Given the description of an element on the screen output the (x, y) to click on. 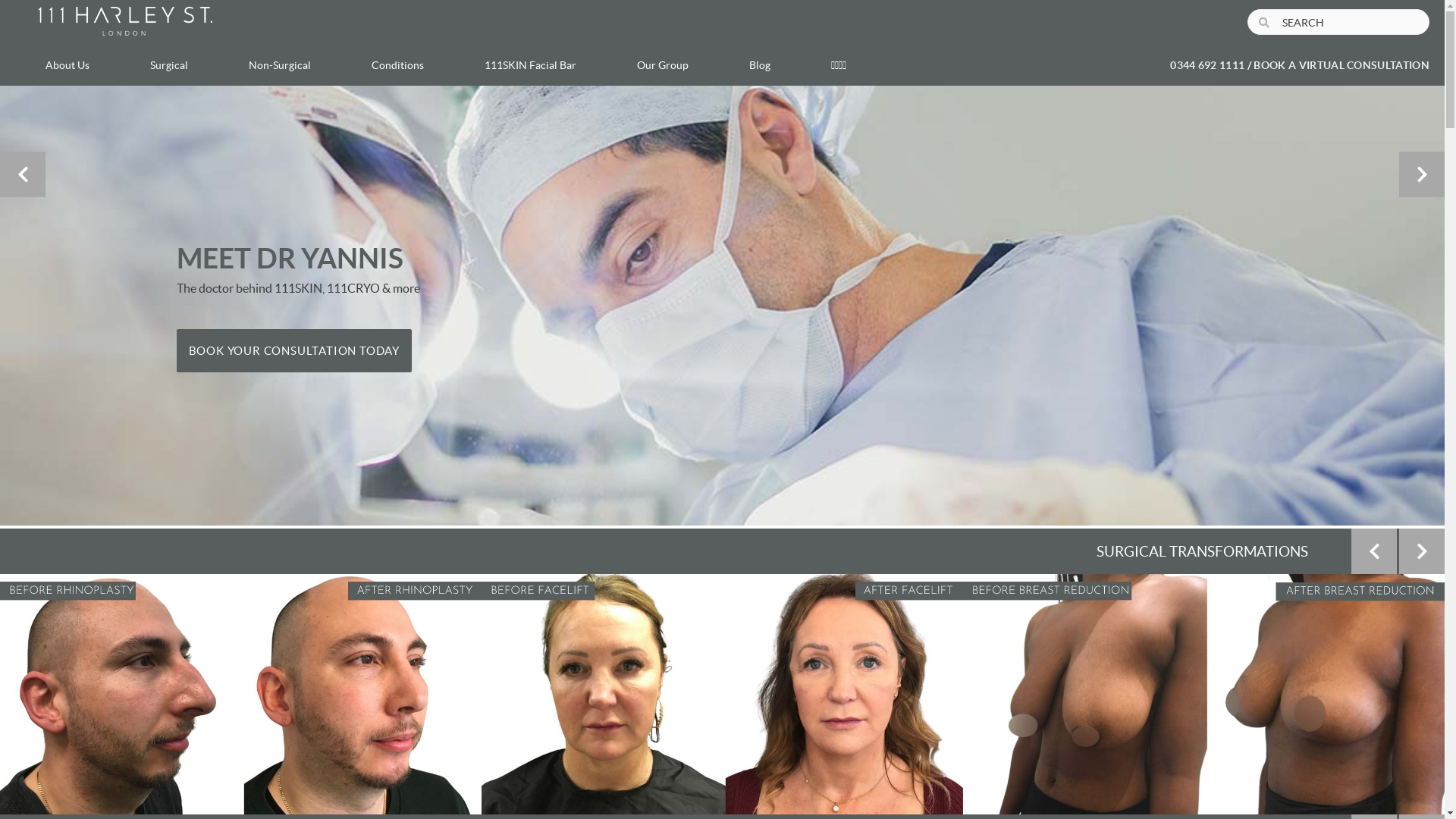
BOOK A VIRTUAL CONSULTATION Element type: text (1341, 65)
BOOK YOUR CONSULTATION TODAY Element type: text (293, 350)
Non-Surgical Element type: text (279, 64)
Surgical Element type: text (168, 64)
Our Group Element type: text (662, 64)
111SKIN Facial Bar Element type: text (530, 64)
About Us Element type: text (67, 64)
Blog Element type: text (759, 64)
0344 692 1111 Element type: text (1207, 65)
Conditions Element type: text (397, 64)
